Given the description of an element on the screen output the (x, y) to click on. 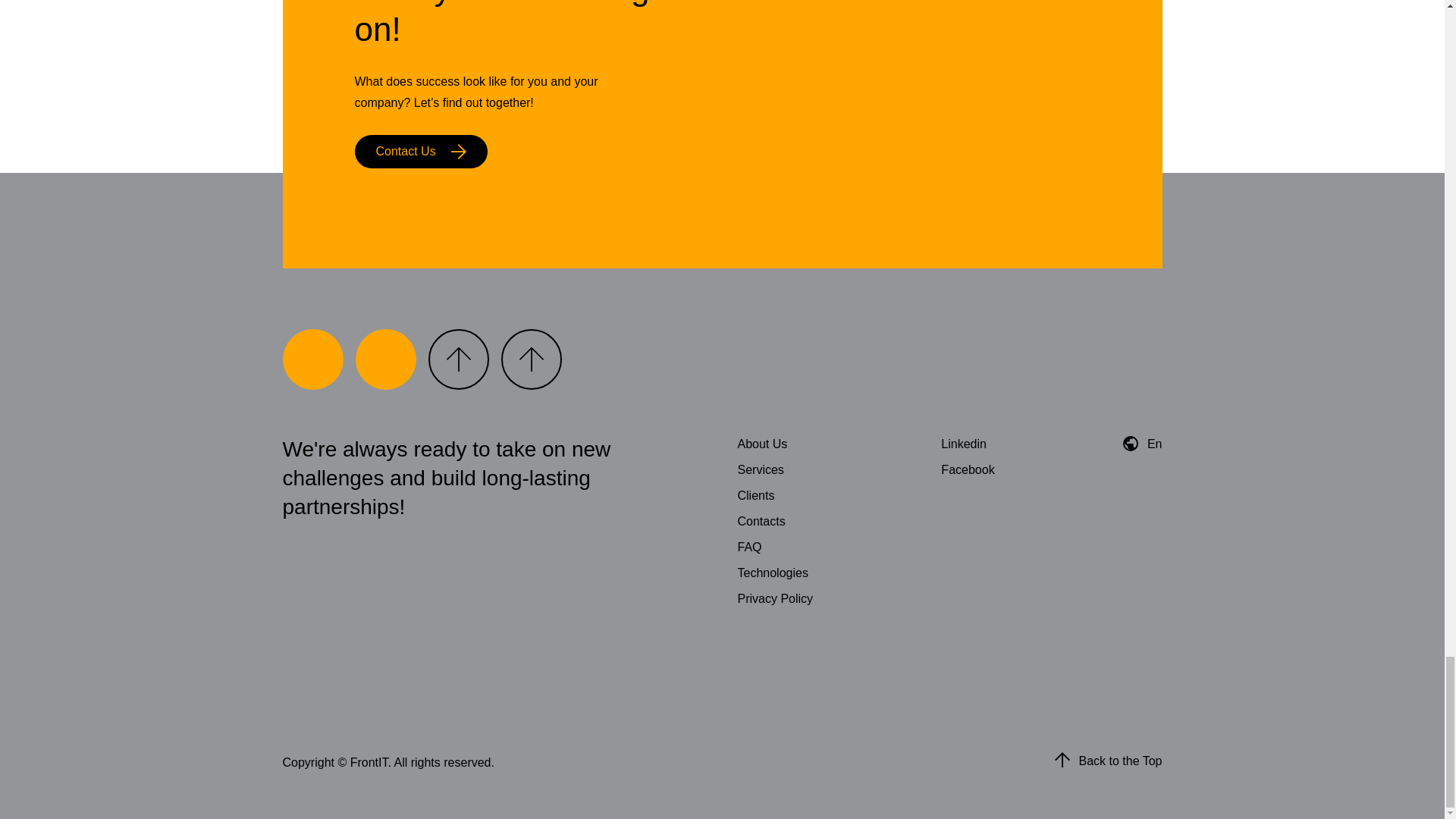
Contacts (760, 521)
Back to the Top (1107, 762)
Technologies (772, 572)
About Us (761, 443)
Linkedin (963, 443)
Back to the Top (1119, 762)
FAQ (748, 546)
Services (759, 469)
Contact Us (421, 151)
Facebook (967, 469)
Clients (755, 495)
Privacy Policy (774, 598)
